Given the description of an element on the screen output the (x, y) to click on. 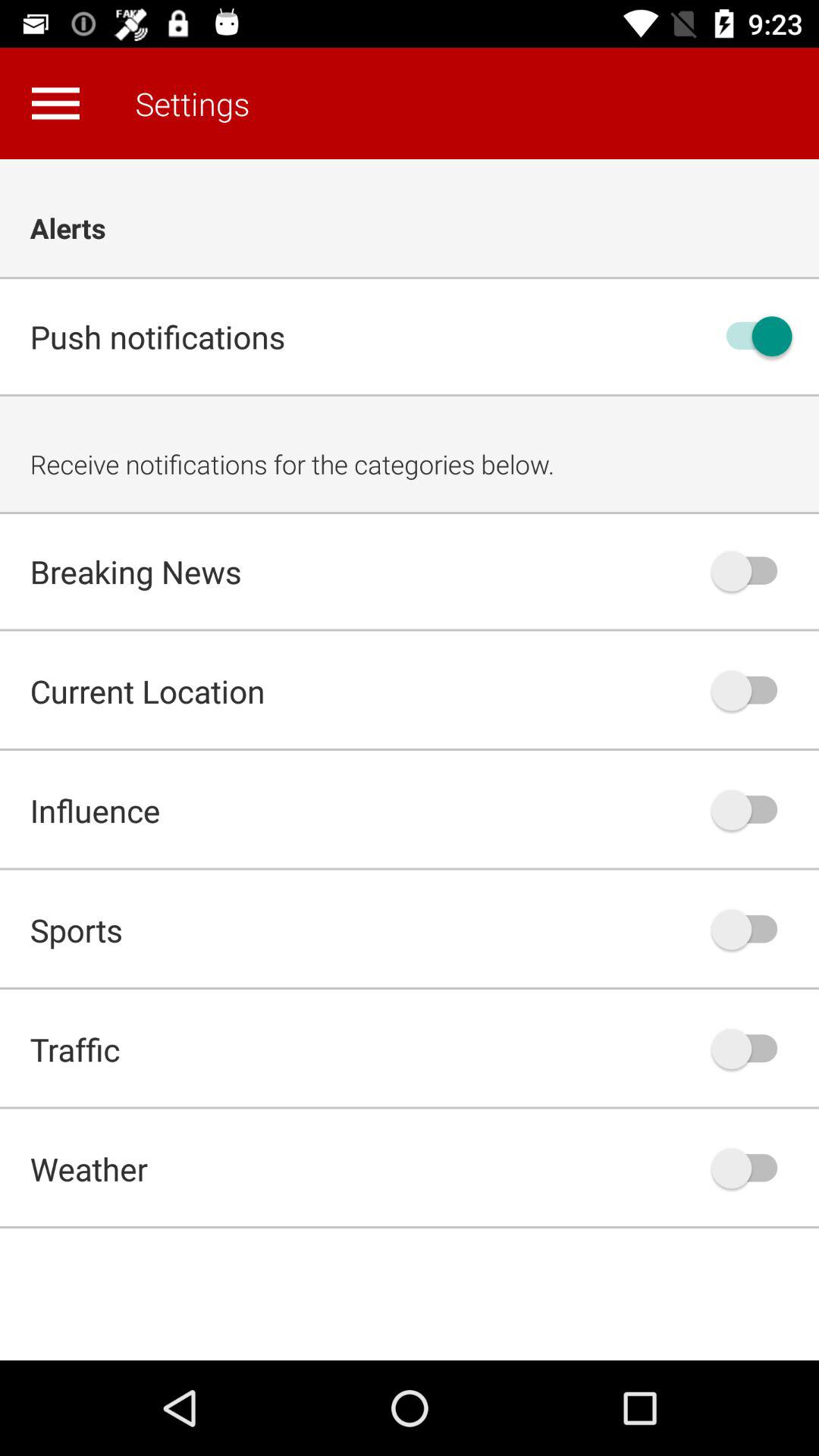
toggle notifications on or off for category (751, 1168)
